Given the description of an element on the screen output the (x, y) to click on. 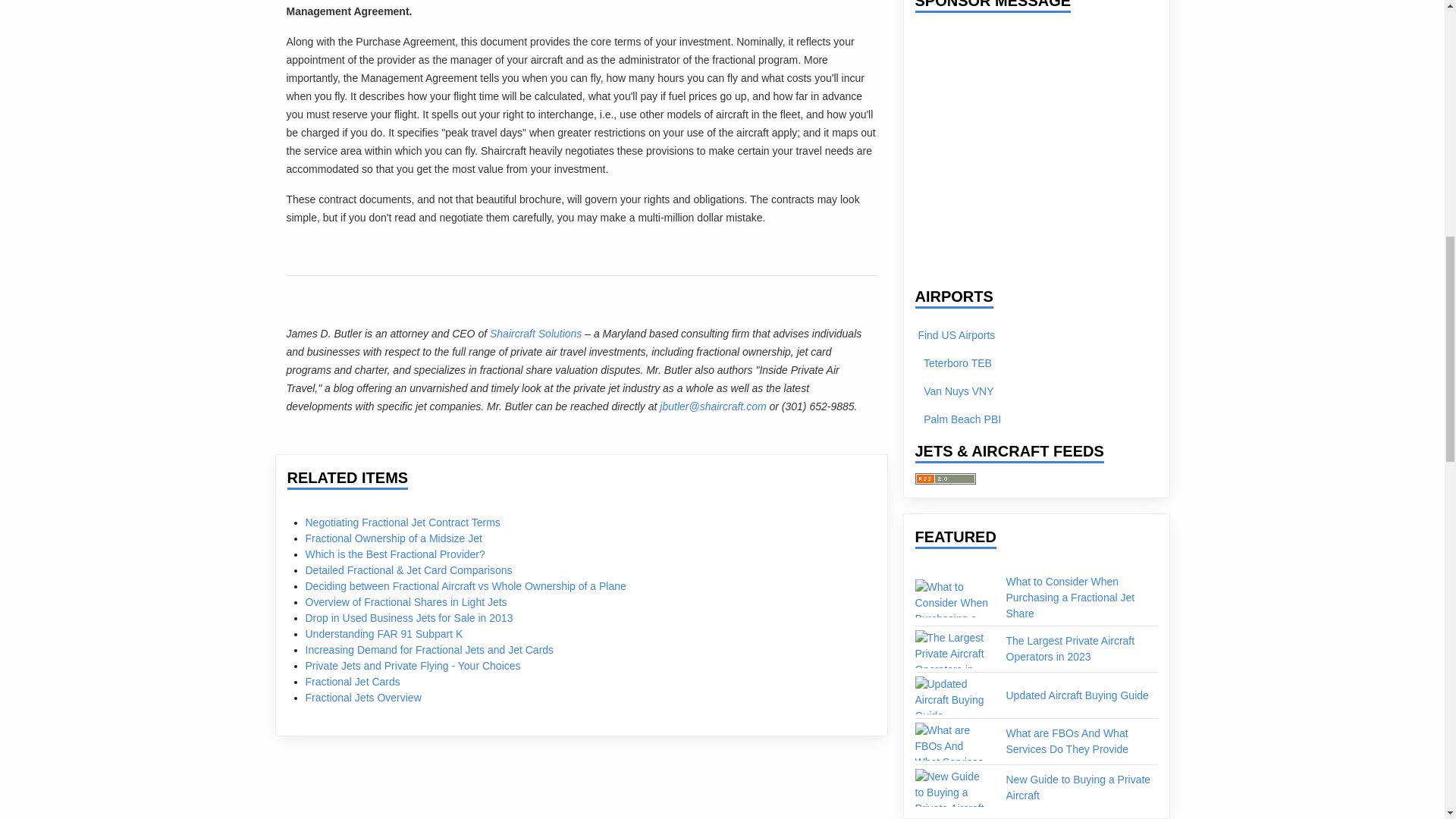
Which is the Best Fractional Provider? (394, 553)
Negotiating Fractional Jet Contract Terms (401, 522)
Private Jets and Fractional Aircraft (944, 478)
Fractional Ownership of a Midsize Jet (392, 538)
Shaircraft Solutions (534, 333)
